Given the description of an element on the screen output the (x, y) to click on. 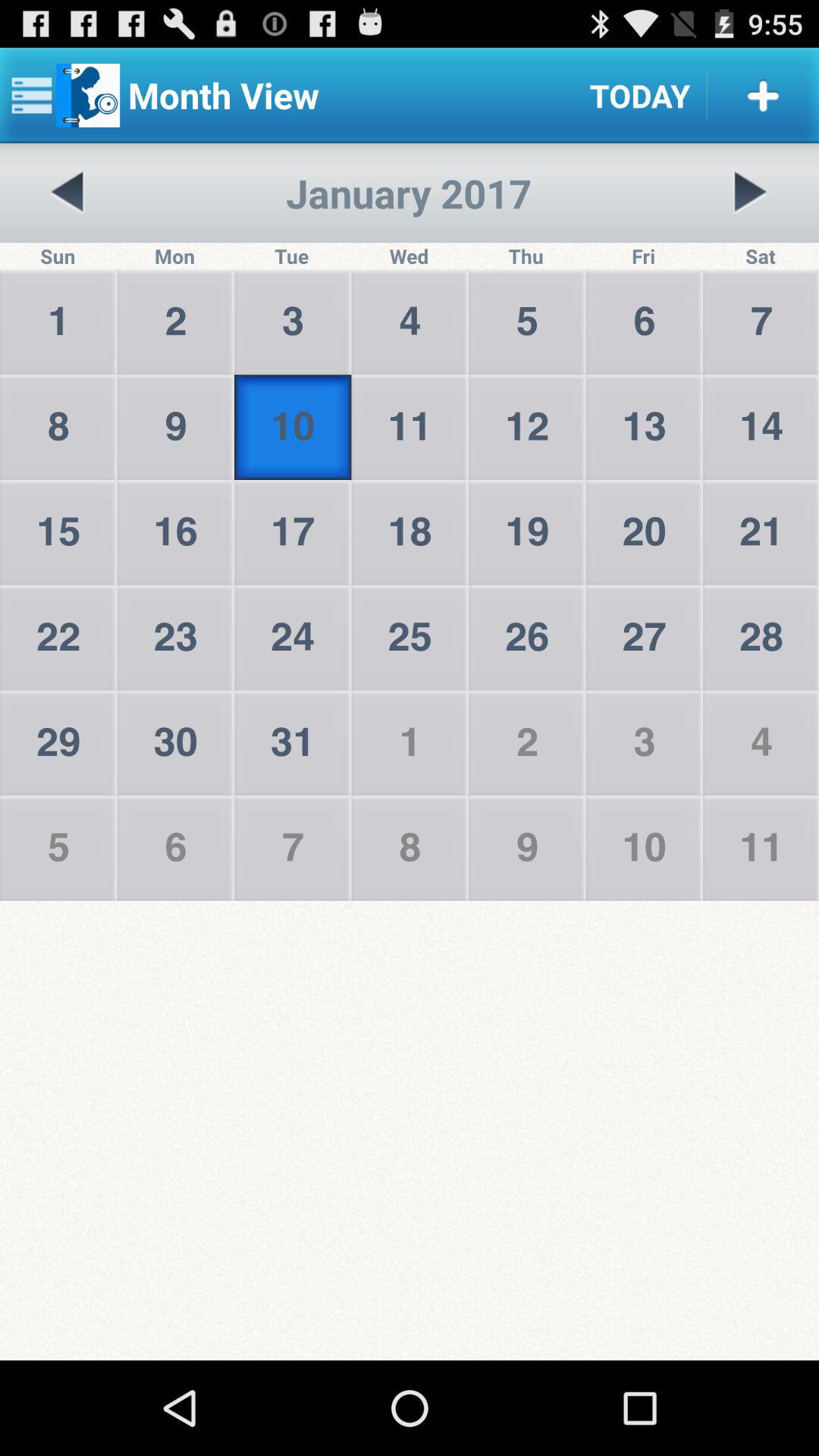
choose the icon to the left of the tue icon (67, 192)
